Given the description of an element on the screen output the (x, y) to click on. 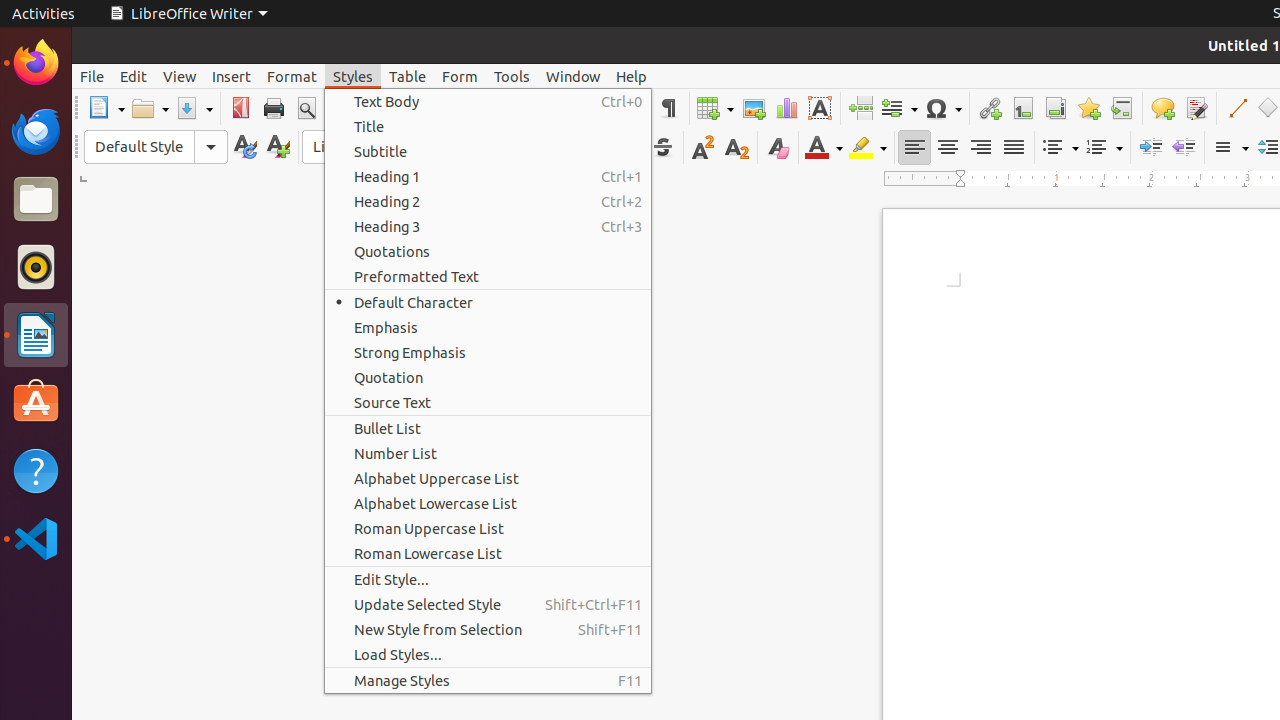
Form Element type: menu (460, 76)
Preformatted Text Element type: radio-menu-item (488, 276)
Hyperlink Element type: toggle-button (989, 108)
Line Element type: toggle-button (1236, 108)
Rhythmbox Element type: push-button (36, 267)
